Given the description of an element on the screen output the (x, y) to click on. 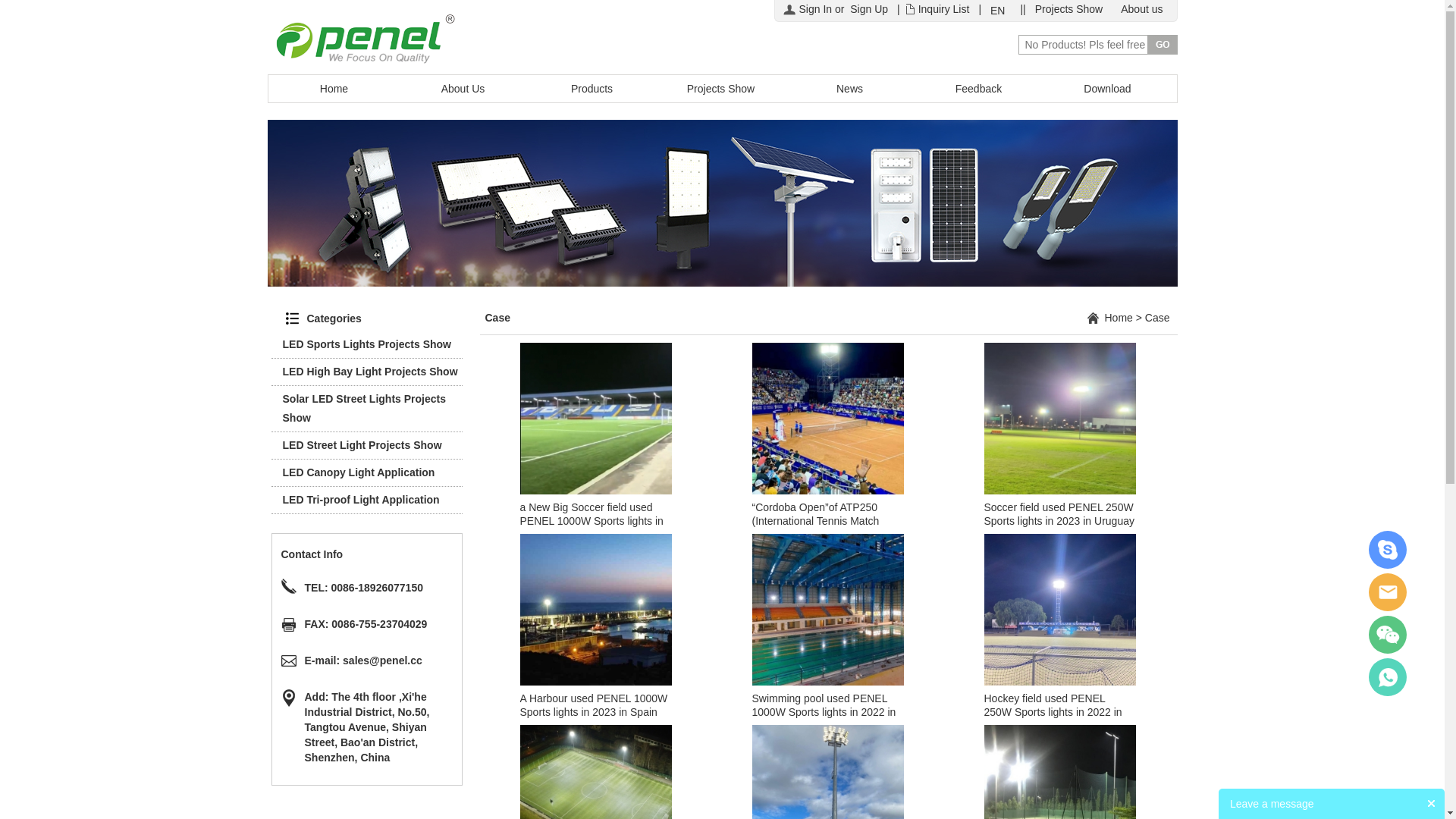
Case Element type: text (1157, 317)
Home Element type: text (333, 88)
Download Element type: text (1107, 88)
Solar LED Street Lights Projects Show Element type: text (363, 407)
LED Canopy Light Application Element type: text (358, 472)
Inquiry List Element type: text (943, 9)
Cindy Zhao Element type: text (1387, 549)
LED Street Light Projects Show Element type: text (361, 445)
Projects Show Element type: text (1068, 9)
Home Element type: text (1118, 317)
Jenny Zeng Element type: text (1387, 592)
News Element type: text (849, 88)
A Harbour used PENEL 1000W Sports lights in 2023 in Spain Element type: hover (595, 608)
LED Sports Lights Projects Show Element type: text (366, 344)
A Harbour used PENEL 1000W Sports lights in 2023 in Spain Element type: text (594, 705)
LED High Bay Light Projects Show Element type: text (369, 371)
Sign Up Element type: text (869, 9)
LED Tri-proof Light Application Element type: text (360, 499)
Jenny Zeng Element type: text (1387, 677)
Projects Show Element type: text (720, 88)
Feedback Element type: text (978, 88)
About Us Element type: text (462, 88)
Products Element type: text (591, 88)
About us Element type: text (1141, 9)
sales@penel.cc Element type: text (382, 660)
Sign In Element type: text (815, 9)
